Given the description of an element on the screen output the (x, y) to click on. 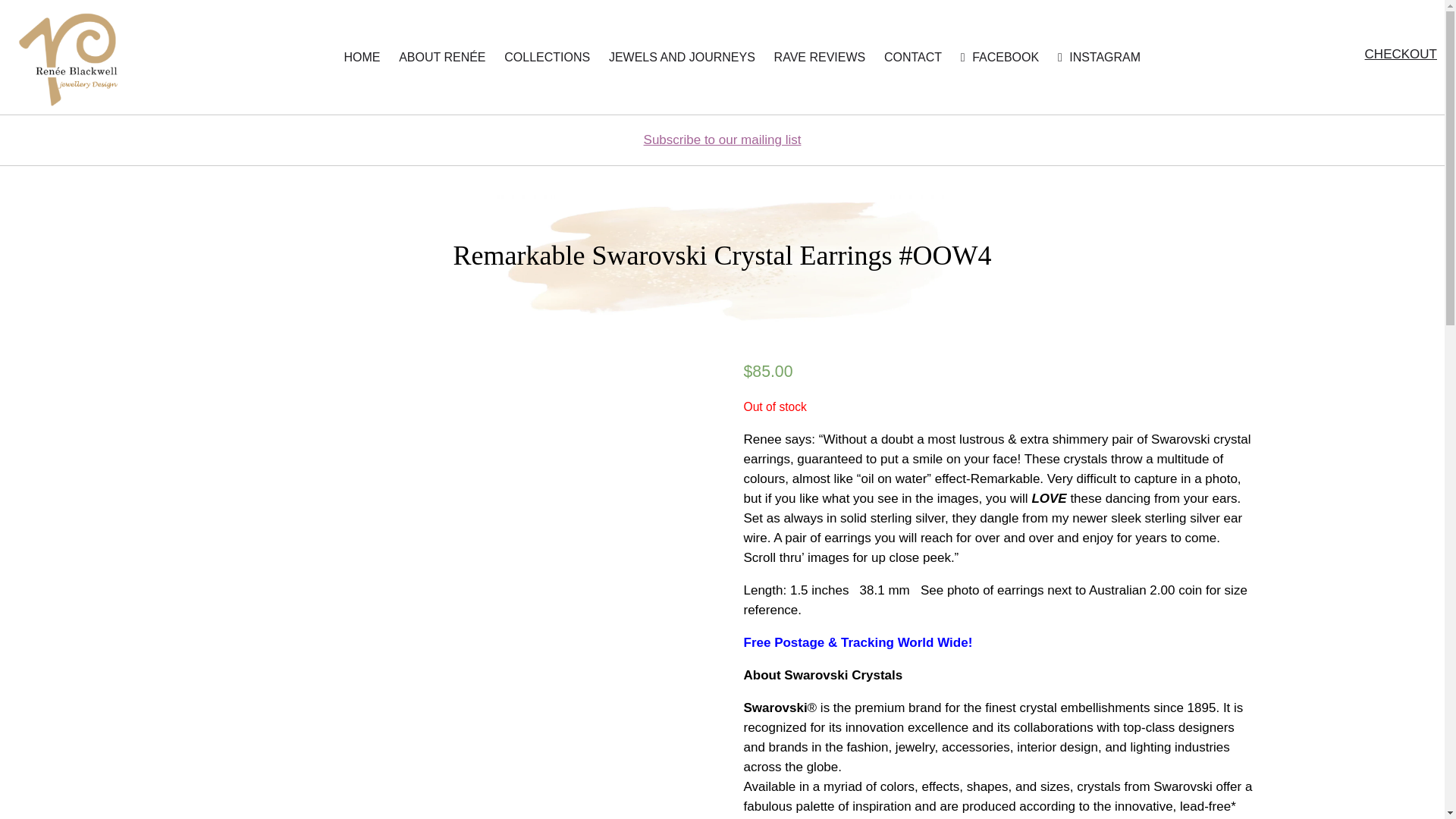
JEWELS AND JOURNEYS (681, 57)
Subscribe to our mailing list (722, 139)
RAVE REVIEWS (820, 57)
